Given the description of an element on the screen output the (x, y) to click on. 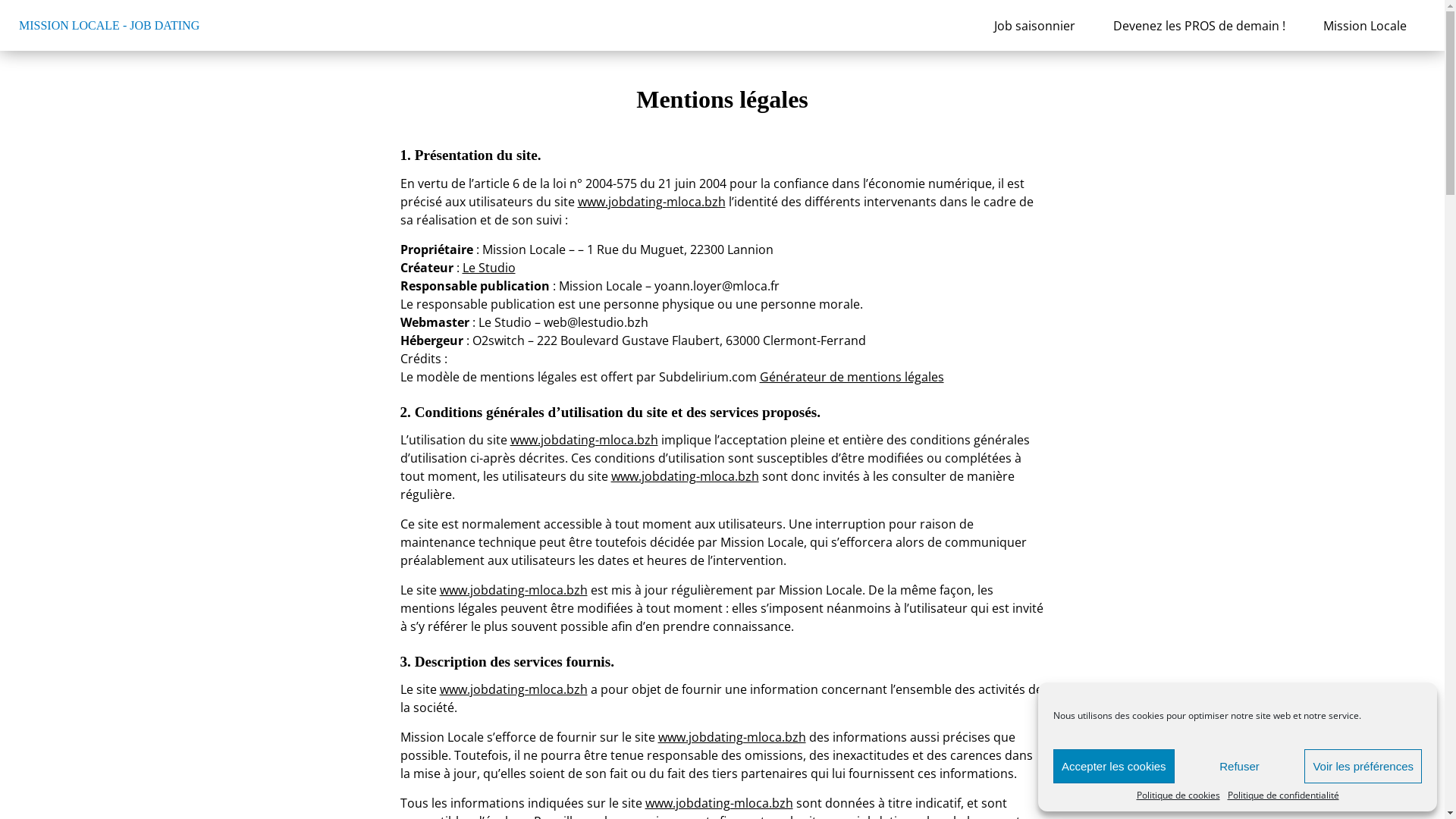
MISSION LOCALE - JOB DATING Element type: text (108, 24)
Job saisonnier Element type: text (1034, 24)
Le Studio Element type: text (488, 267)
www.jobdating-mloca.bzh Element type: text (513, 688)
www.jobdating-mloca.bzh Element type: text (651, 201)
www.jobdating-mloca.bzh Element type: text (583, 439)
Mission Locale Element type: text (1364, 24)
www.jobdating-mloca.bzh Element type: text (513, 589)
www.jobdating-mloca.bzh Element type: text (732, 736)
www.jobdating-mloca.bzh Element type: text (718, 802)
Politique de cookies Element type: text (1177, 795)
Devenez les PROS de demain ! Element type: text (1199, 24)
Accepter les cookies Element type: text (1113, 766)
www.jobdating-mloca.bzh Element type: text (685, 475)
Refuser Element type: text (1239, 766)
